Given the description of an element on the screen output the (x, y) to click on. 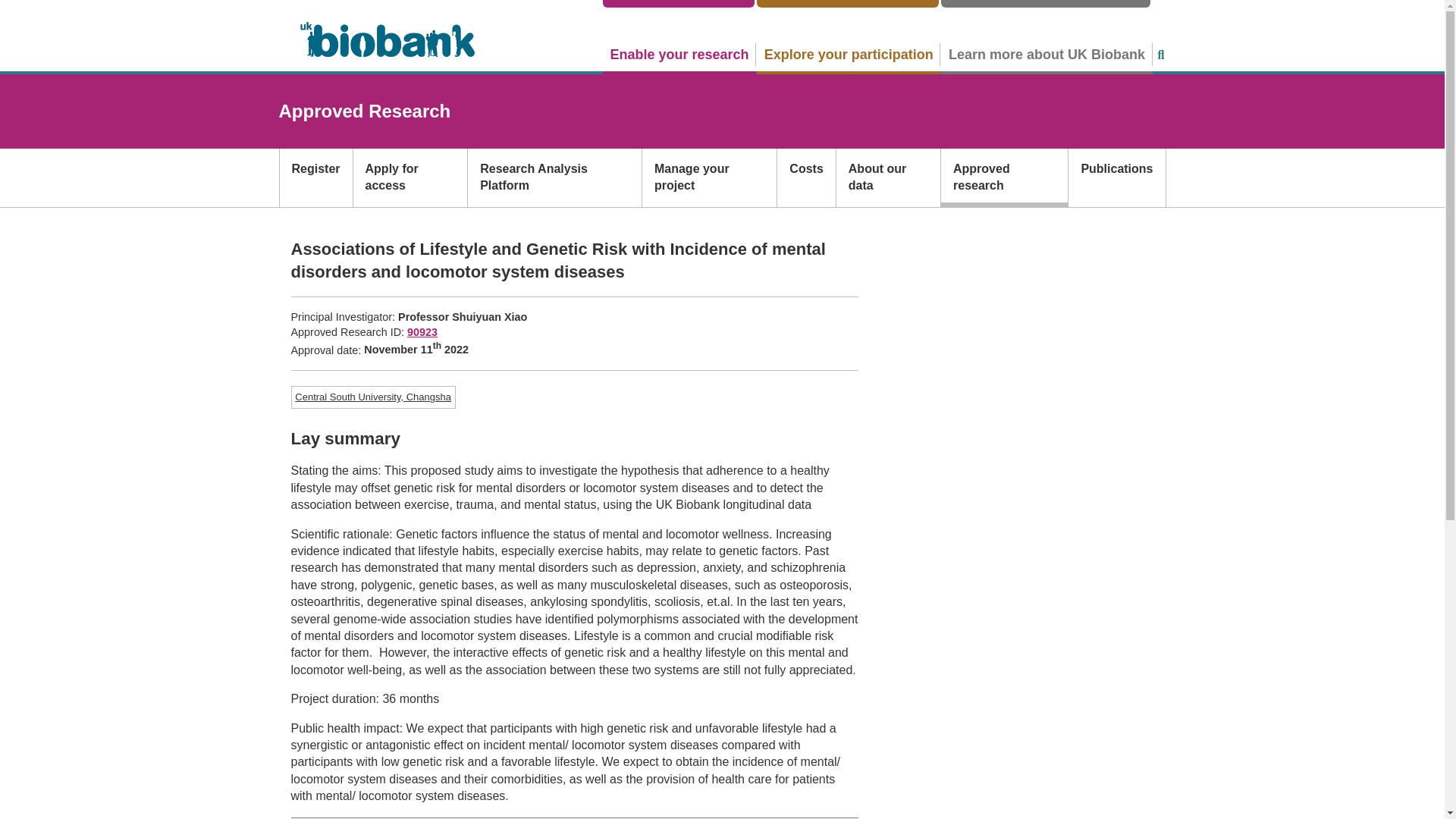
Enable your research (678, 54)
Learn more about UK Biobank (1045, 54)
Register (315, 177)
Contact us (1045, 3)
Explore your participation (848, 54)
Search (1161, 55)
Researcher log in (678, 3)
Participant log in (848, 3)
